Given the description of an element on the screen output the (x, y) to click on. 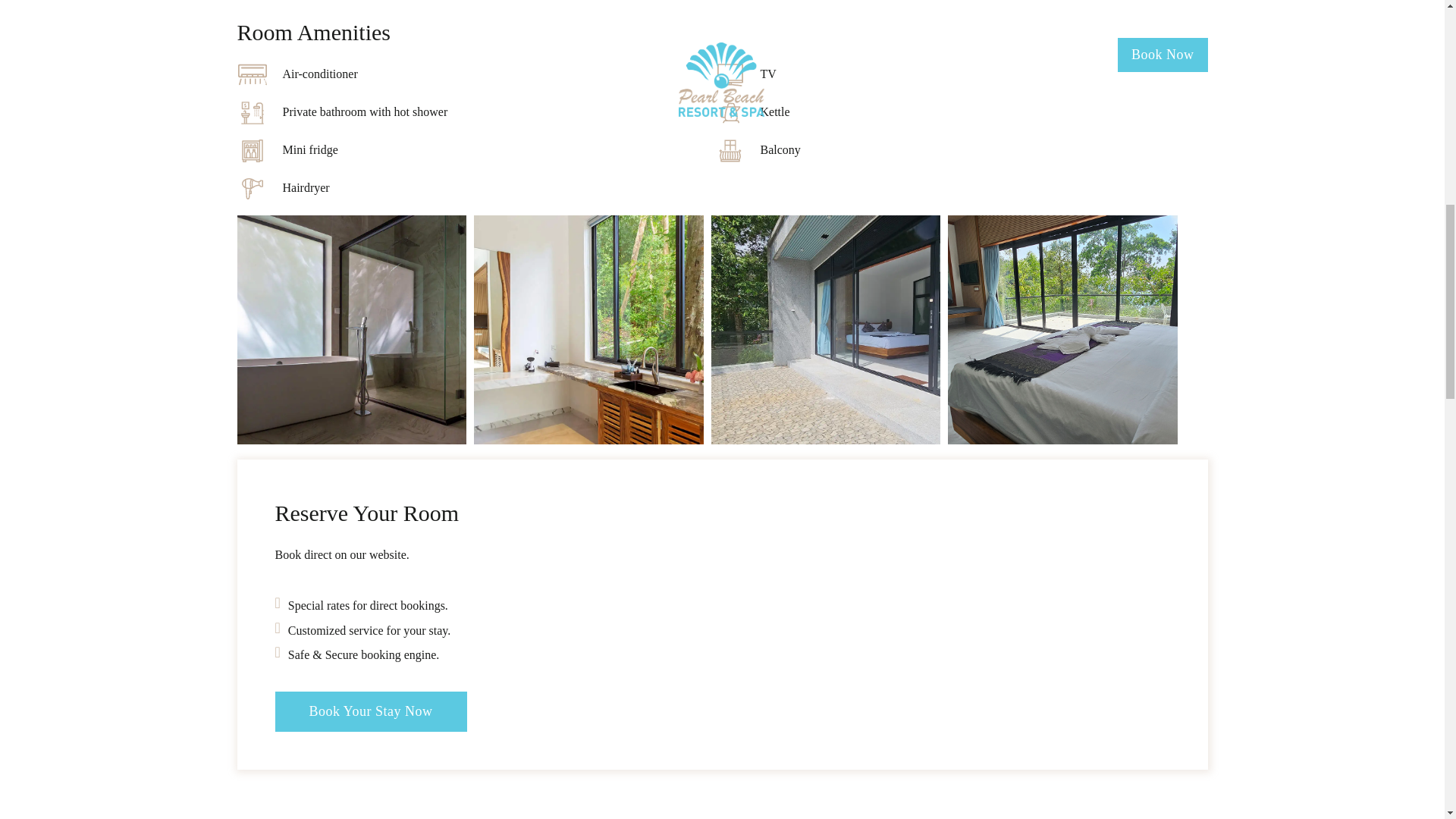
Book Your Stay Now (370, 711)
